Given the description of an element on the screen output the (x, y) to click on. 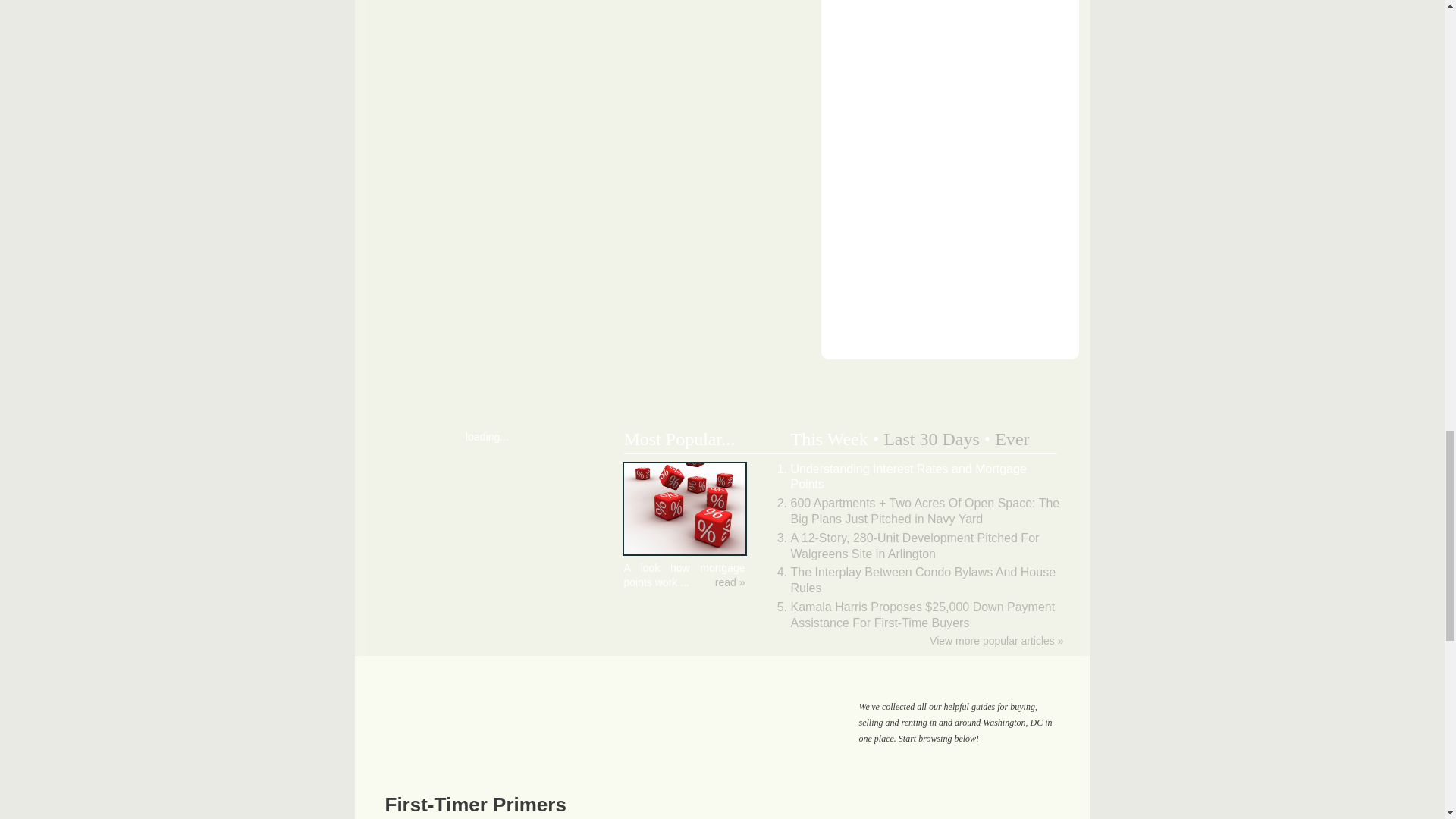
Ever (1011, 438)
This Week (828, 438)
Understanding Interest Rates and Mortgage Points (684, 551)
Last 30 Days (931, 438)
Read the article (729, 581)
